Given the description of an element on the screen output the (x, y) to click on. 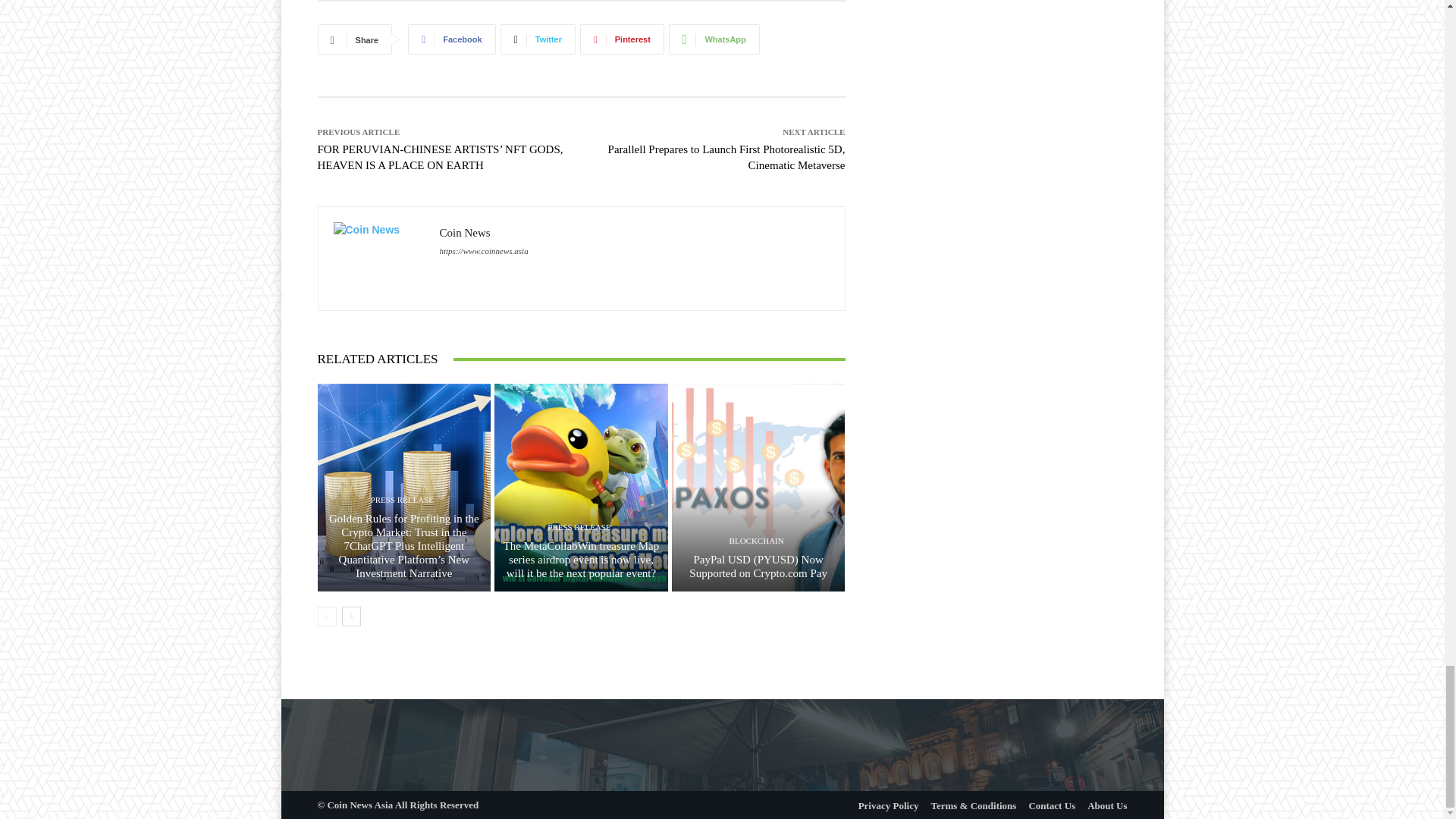
Pinterest (621, 39)
WhatsApp (714, 39)
Facebook (451, 39)
Facebook (451, 39)
PRESS RELEASE (402, 500)
Twitter (537, 39)
Coin News (379, 257)
Pinterest (621, 39)
WhatsApp (714, 39)
Twitter (537, 39)
Coin News (483, 232)
